Given the description of an element on the screen output the (x, y) to click on. 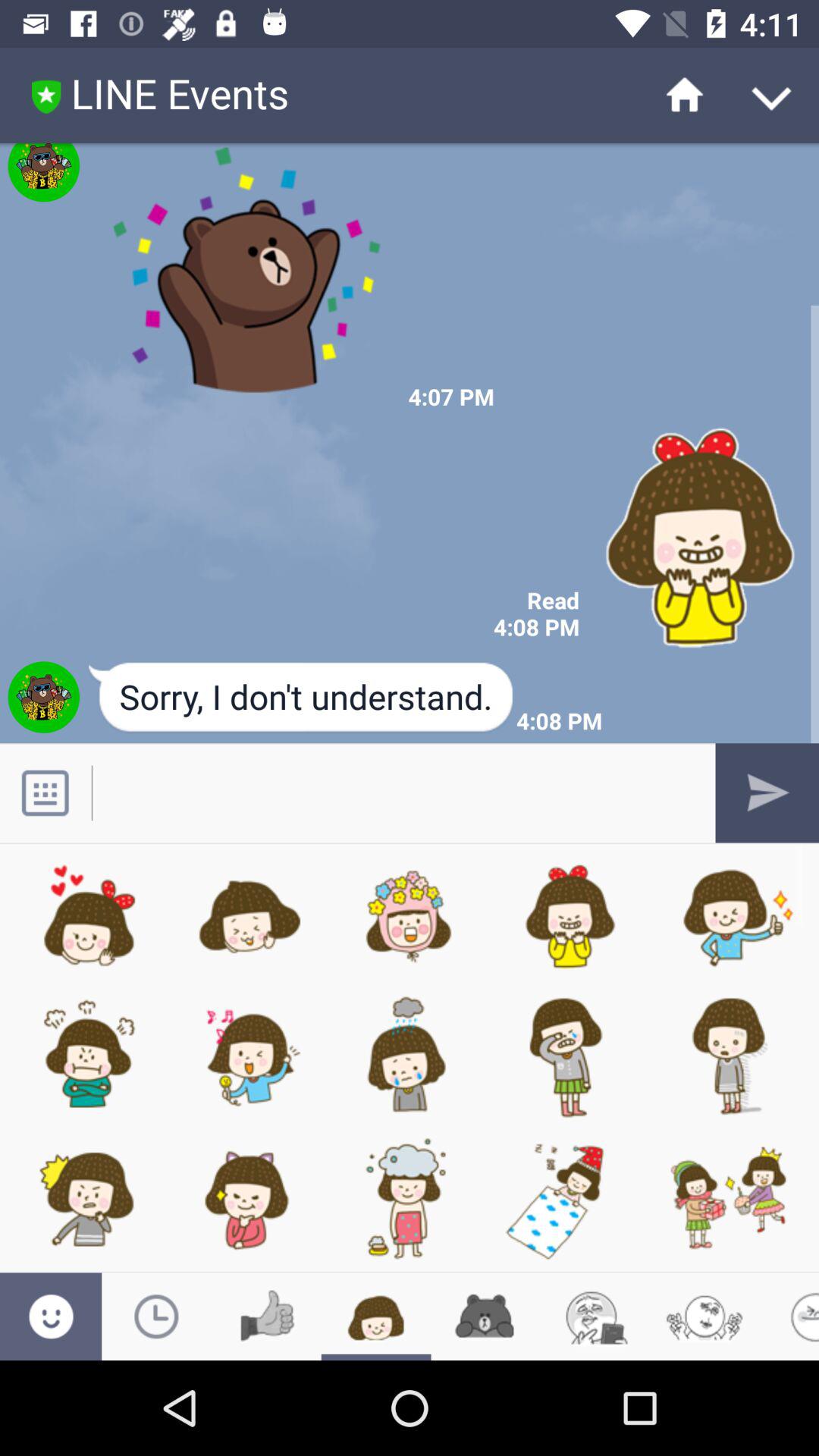
go to the search bar (393, 792)
